Given the description of an element on the screen output the (x, y) to click on. 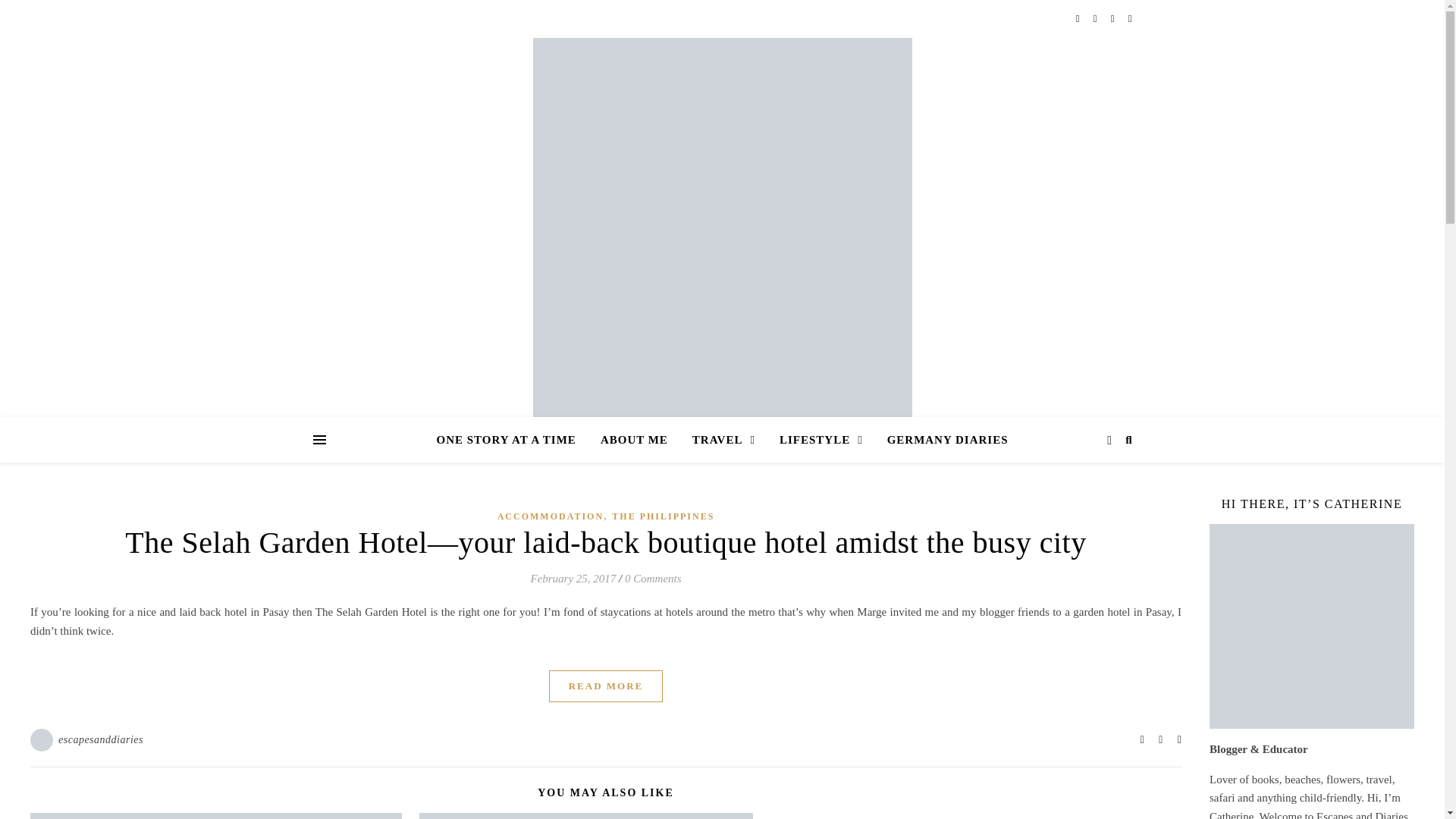
0 Comments (652, 578)
ACCOMMODATION (550, 516)
GERMANY DIARIES (942, 439)
Posts by escapesanddiaries (100, 739)
ABOUT ME (633, 439)
READ MORE (605, 685)
ONE STORY AT A TIME (512, 439)
TRAVEL (723, 439)
THE PHILIPPINES (662, 516)
LIFESTYLE (821, 439)
